Given the description of an element on the screen output the (x, y) to click on. 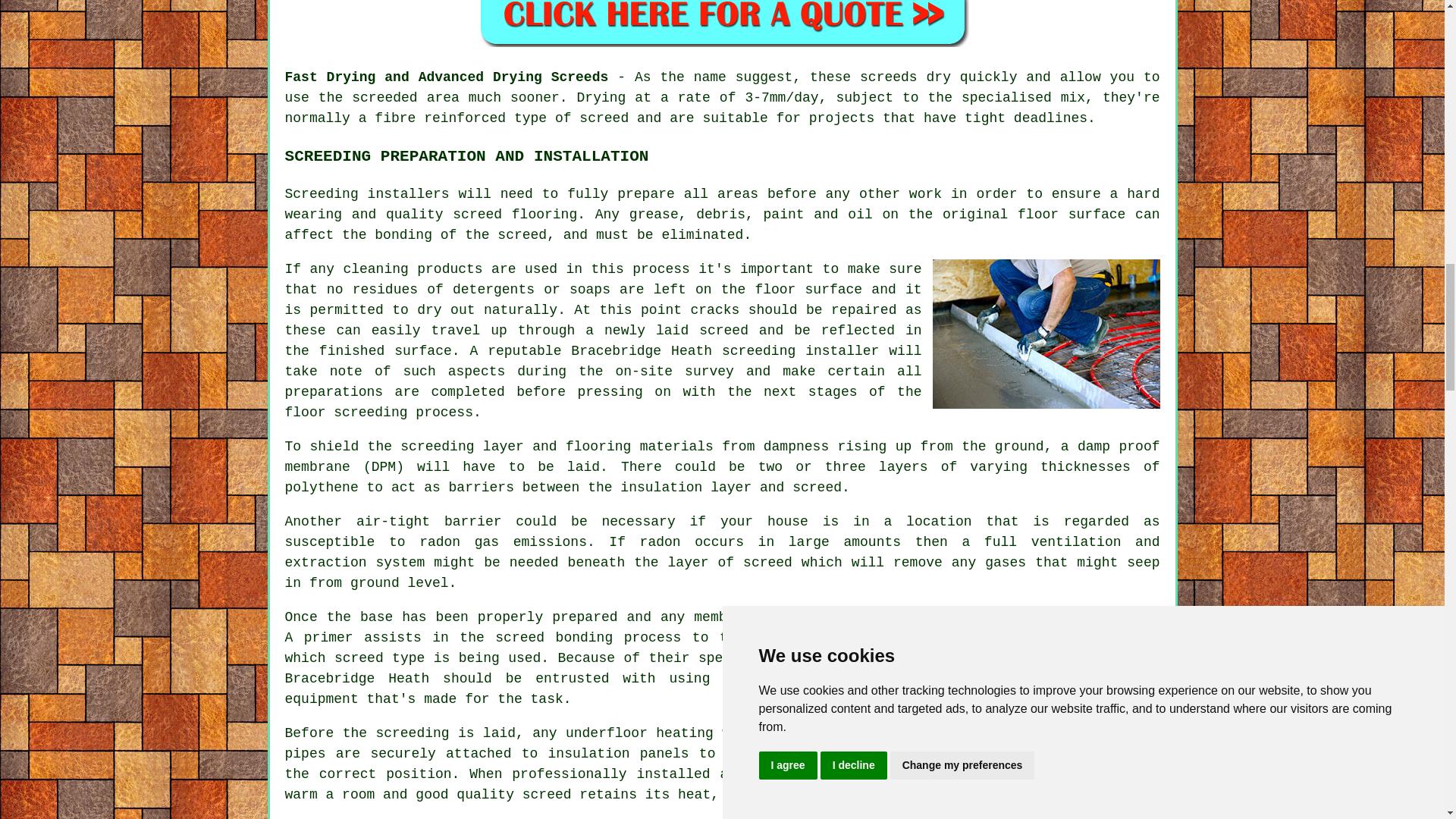
Screeding Quotes Bracebridge Heath Lincolnshire (722, 22)
insulation panels (618, 753)
contractors (1090, 657)
screed flooring (514, 214)
fibre reinforced (439, 118)
